Given the description of an element on the screen output the (x, y) to click on. 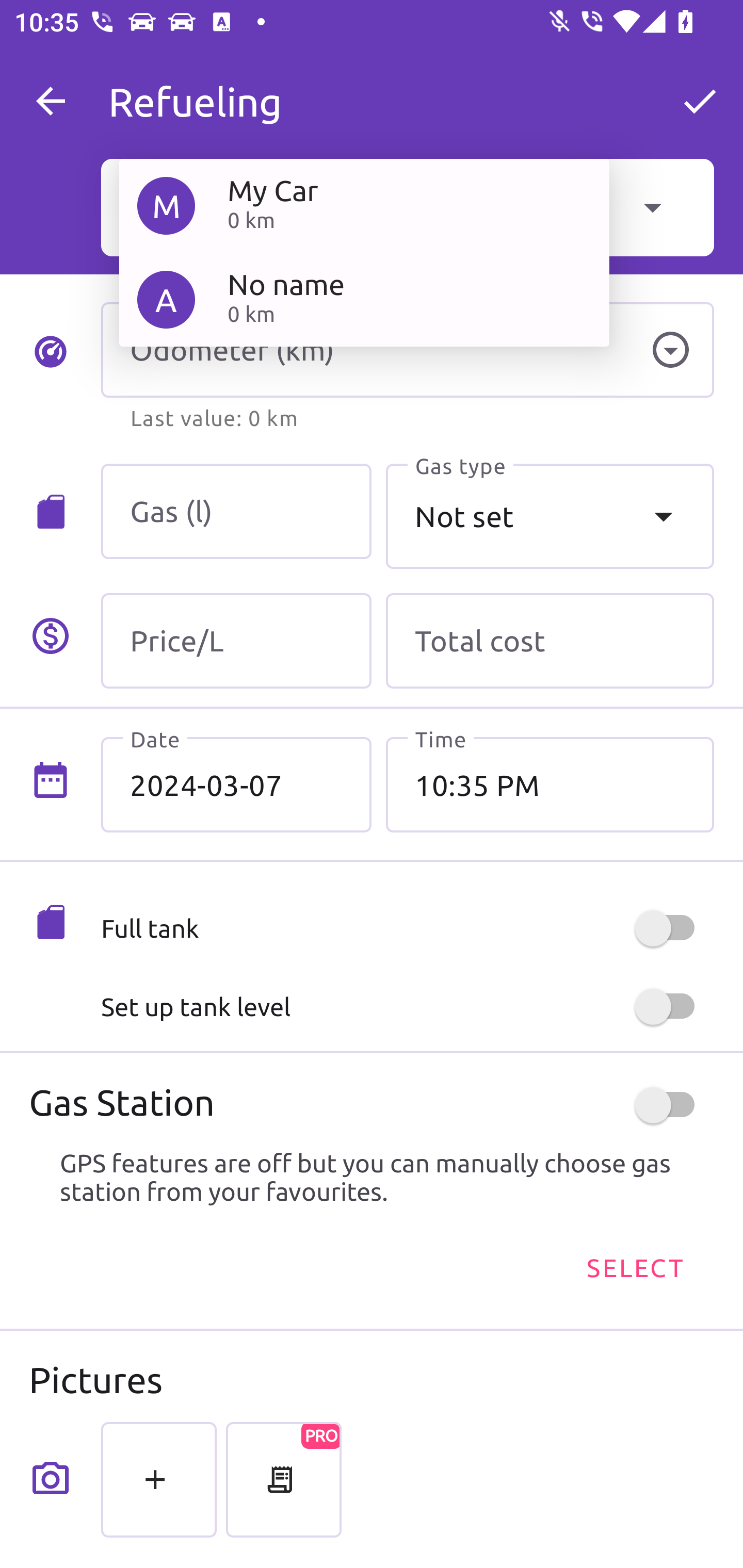
M My Car 0 km (363, 205)
A No name 0 km (363, 299)
